Given the description of an element on the screen output the (x, y) to click on. 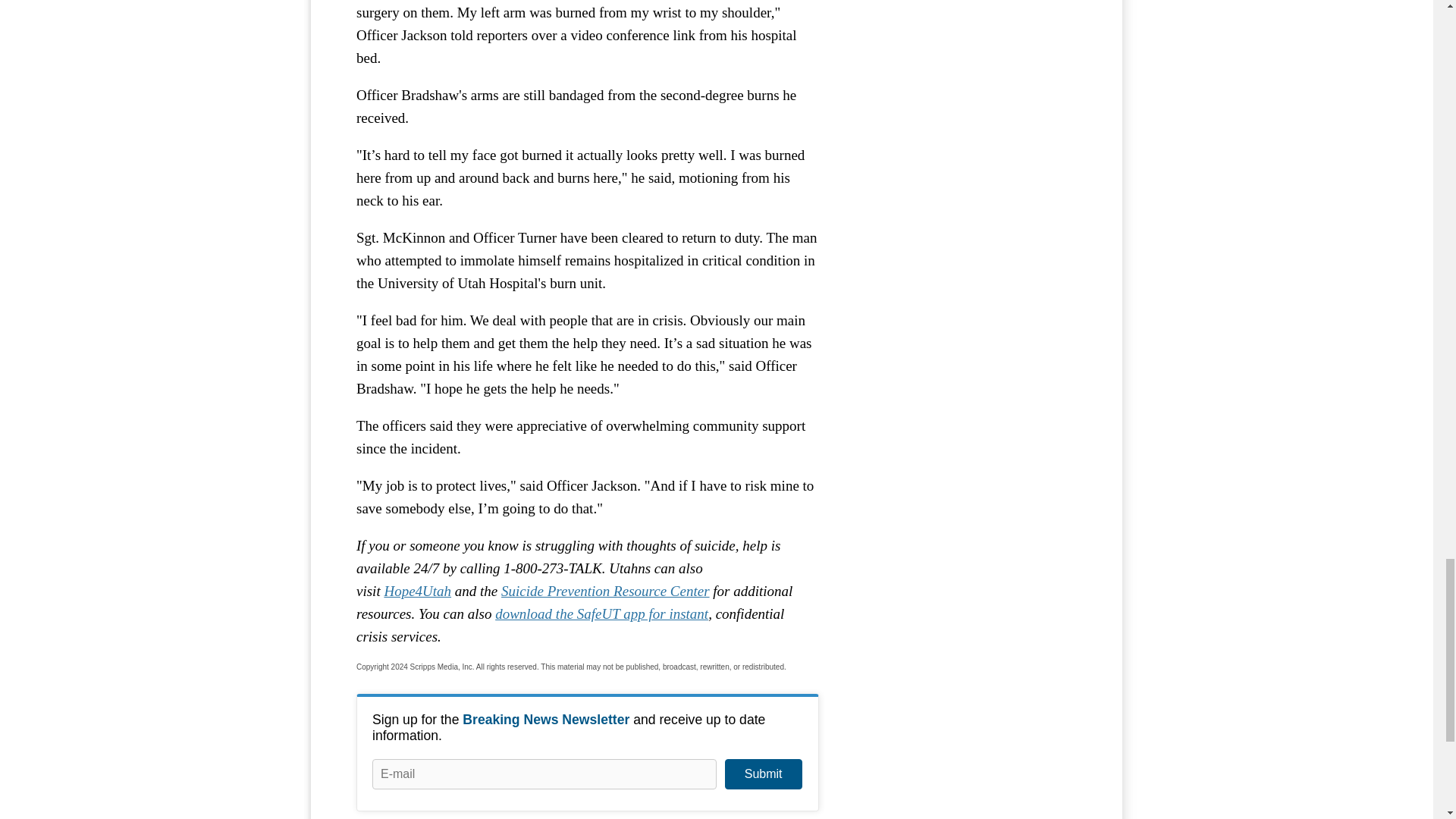
Submit (763, 774)
